Given the description of an element on the screen output the (x, y) to click on. 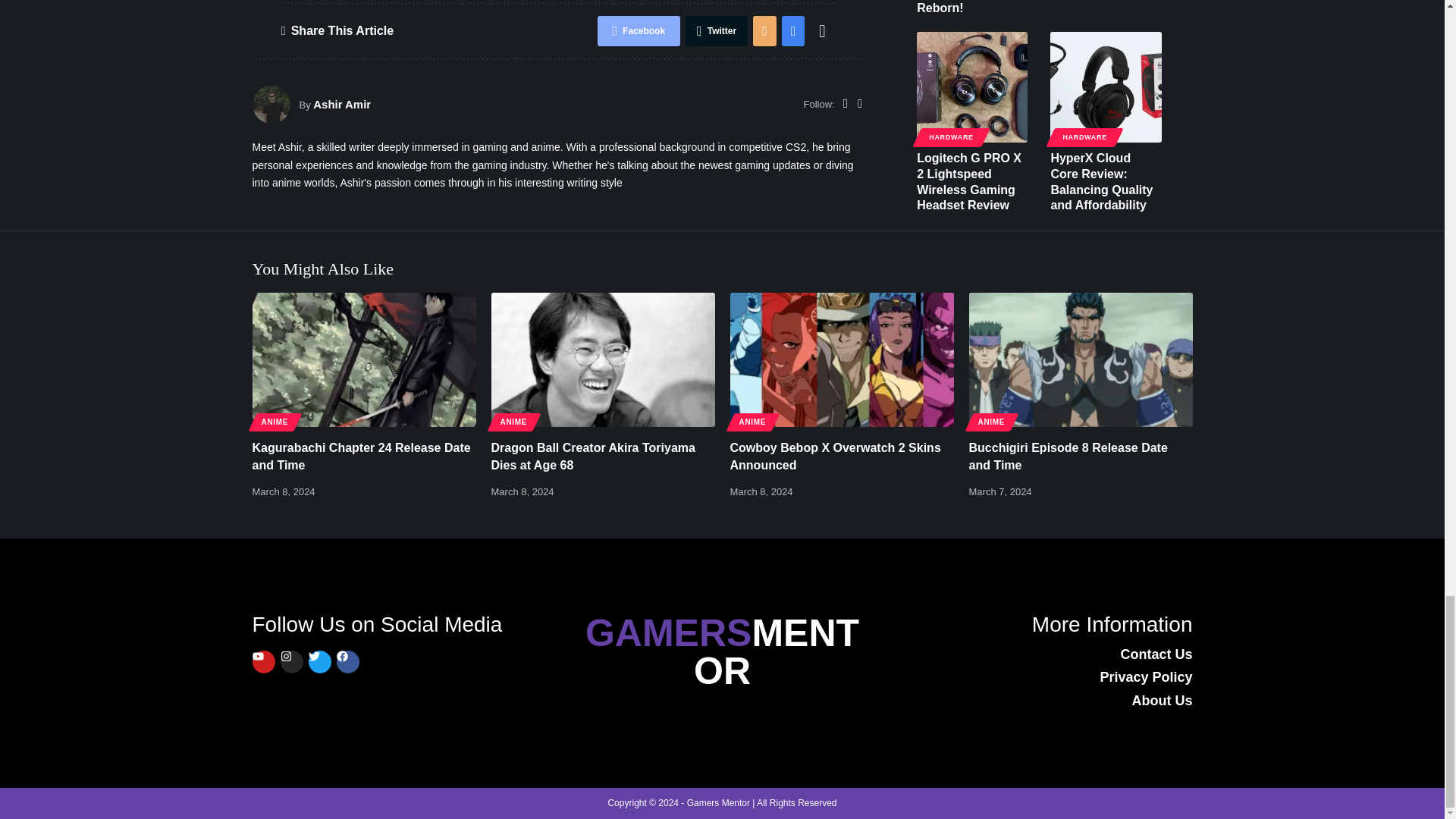
Kagurabachi Chapter 24 Release Date and Time (363, 359)
Dragon Ball Creator Akira Toriyama Dies at Age 68 (603, 359)
Cowboy Bebop X Overwatch 2 Skins Announced (841, 359)
Bucchigiri Episode 8 Release Date and Time (1080, 359)
